Given the description of an element on the screen output the (x, y) to click on. 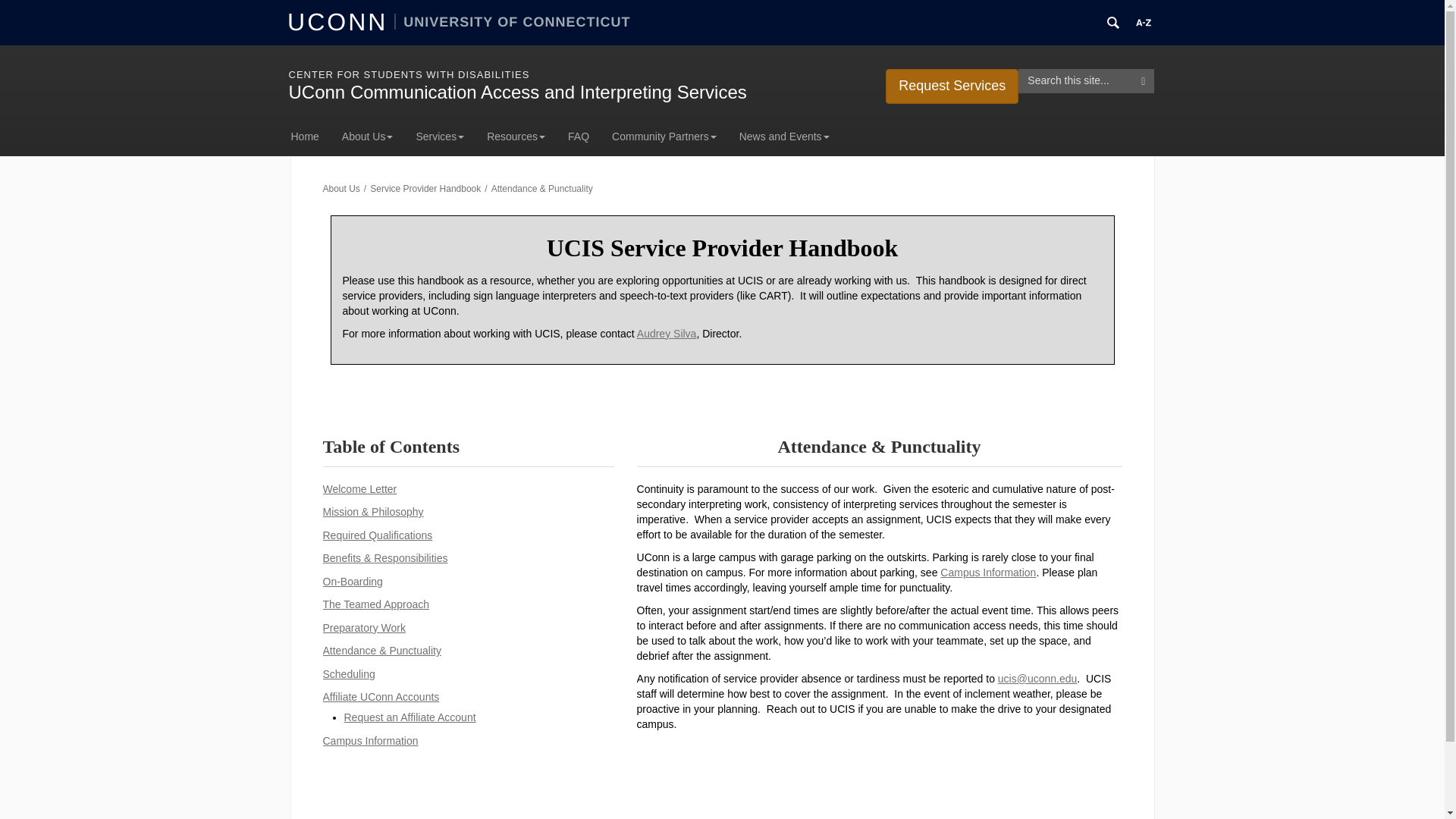
Search (1143, 80)
CENTER FOR STUDENTS WITH DISABILITIES (408, 74)
FAQ (577, 136)
Resources (516, 136)
UConn Communication Access and Interpreting Services (516, 91)
Services (440, 136)
Request Services (951, 84)
Request Services (951, 86)
Home (310, 136)
Search UConn (1112, 22)
UConn A to Z Index (1143, 22)
UCONN (340, 21)
Search this site...  (1074, 80)
Community Partners (663, 136)
Search (1143, 80)
